Given the description of an element on the screen output the (x, y) to click on. 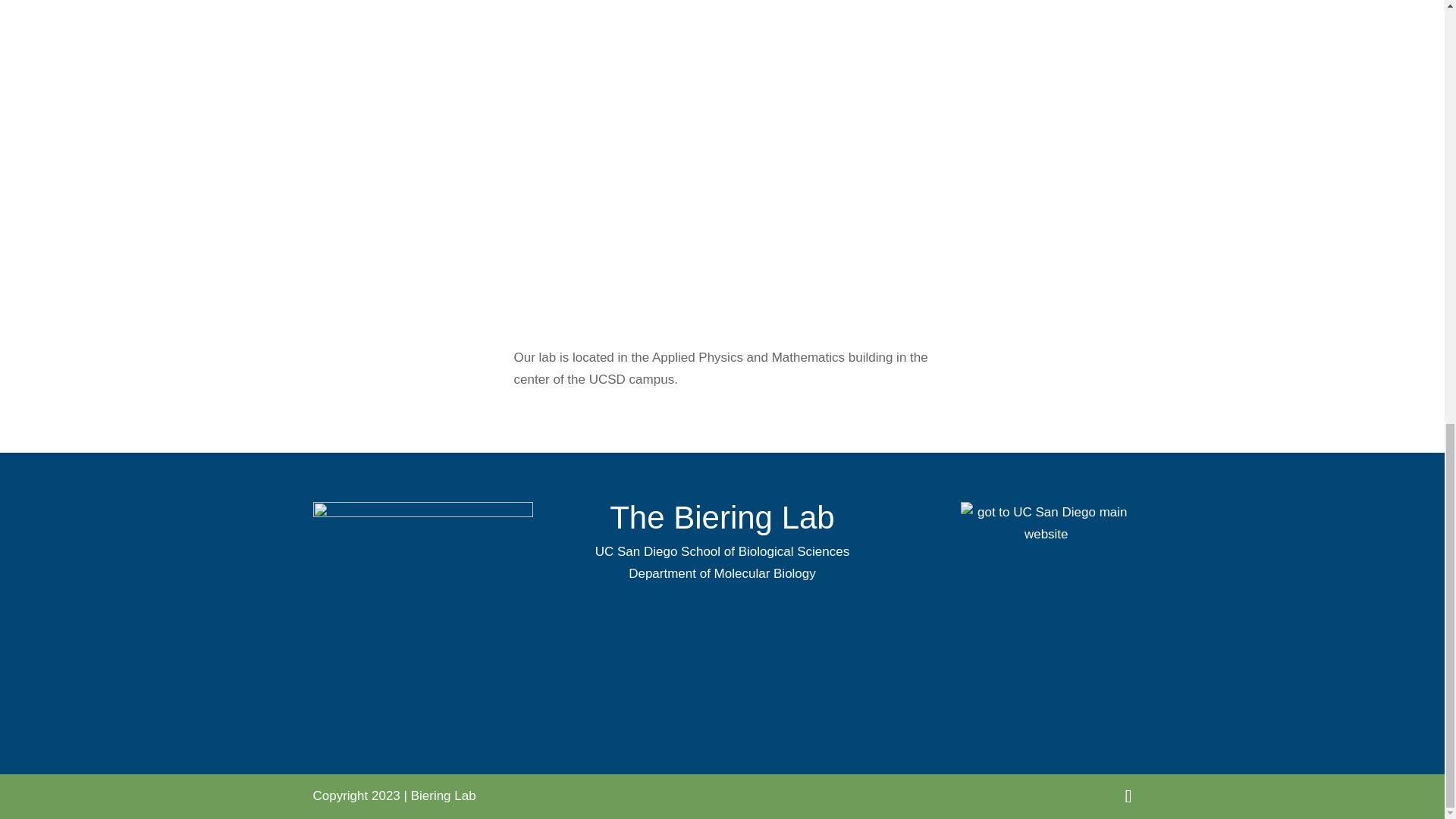
UC San Diego School of Biological Sciences (721, 551)
Department of Molecular Biology (721, 573)
